Given the description of an element on the screen output the (x, y) to click on. 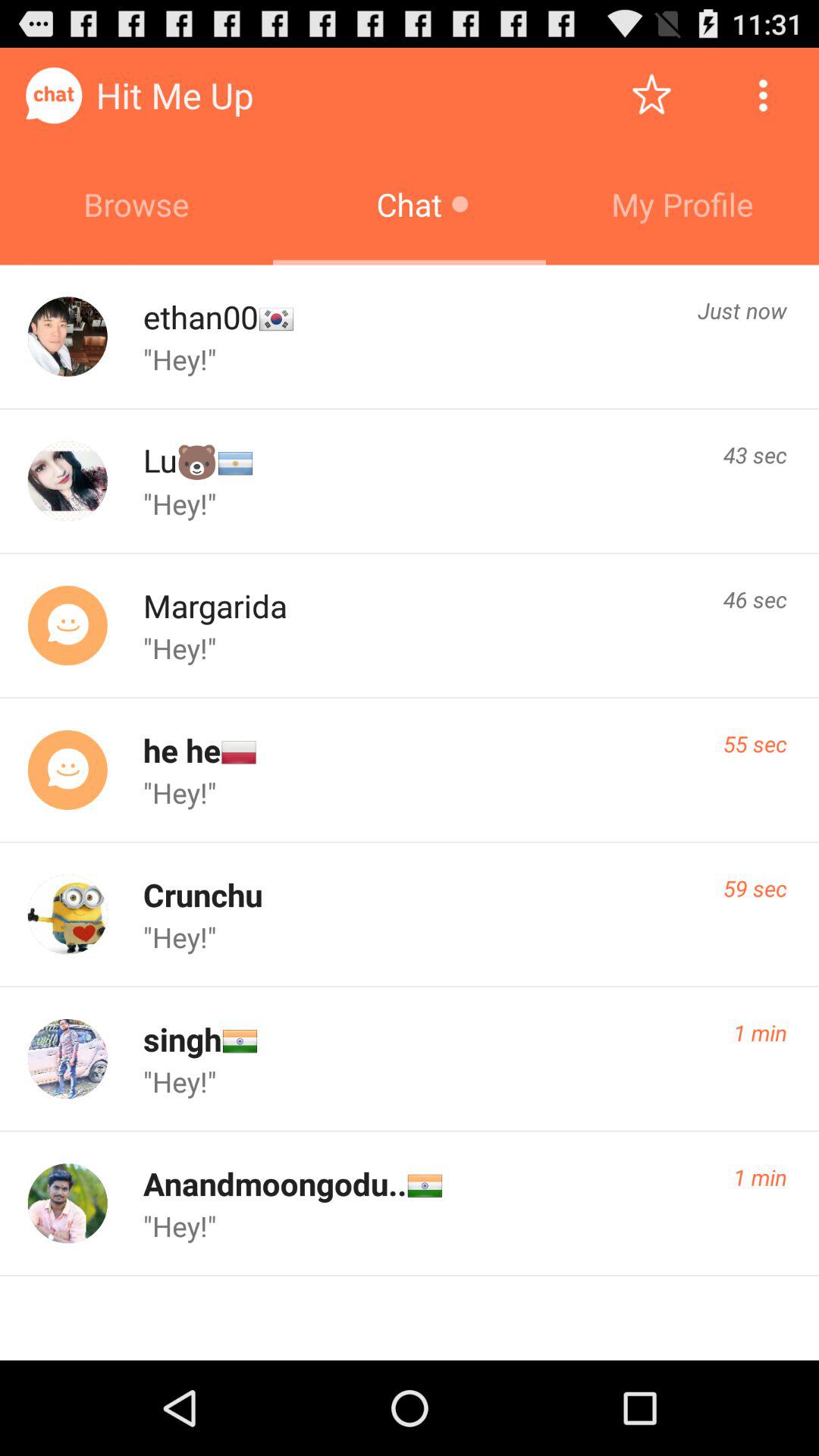
select item below the "hey!" icon (202, 894)
